Given the description of an element on the screen output the (x, y) to click on. 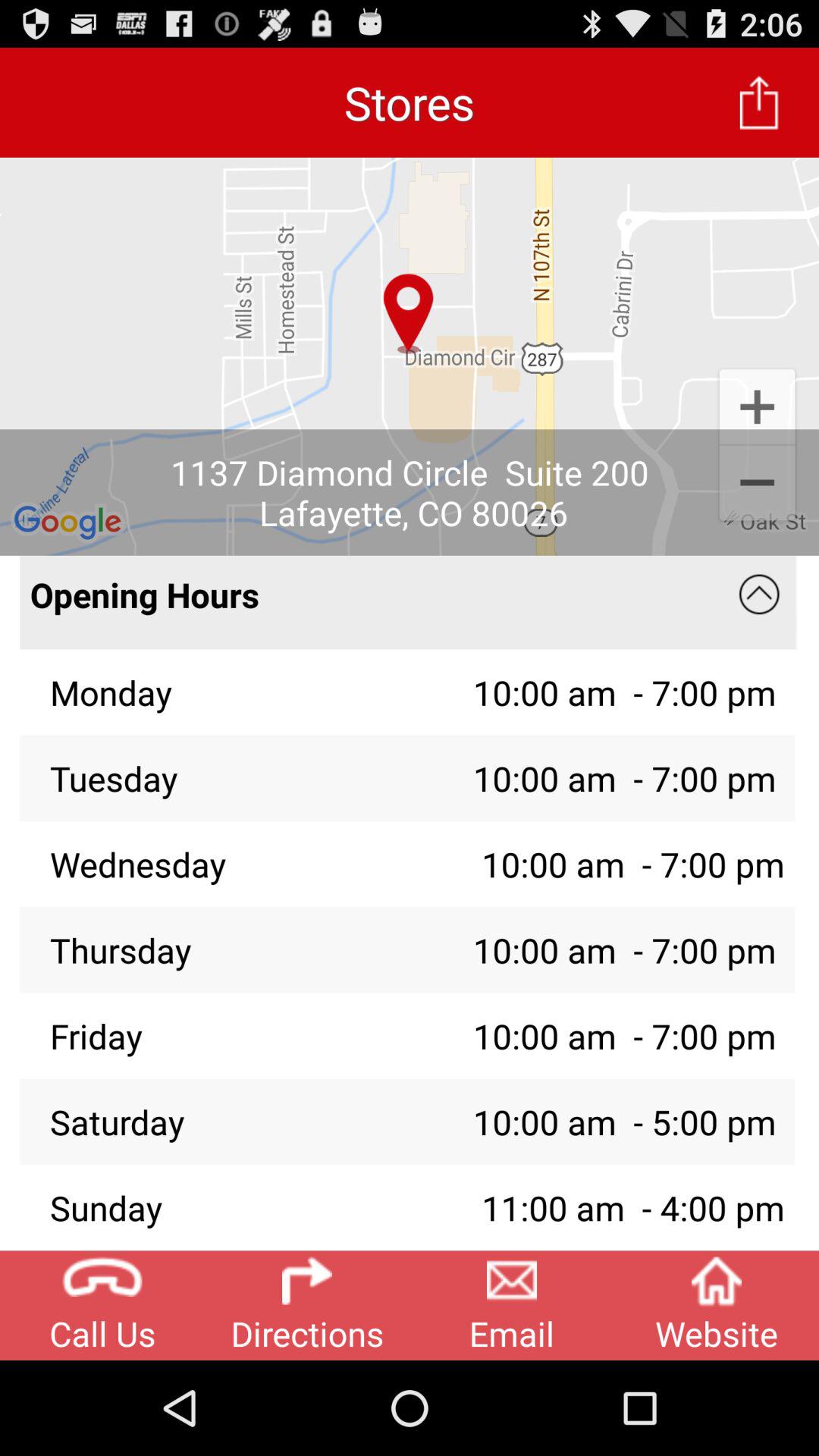
launch icon above monday (374, 602)
